Given the description of an element on the screen output the (x, y) to click on. 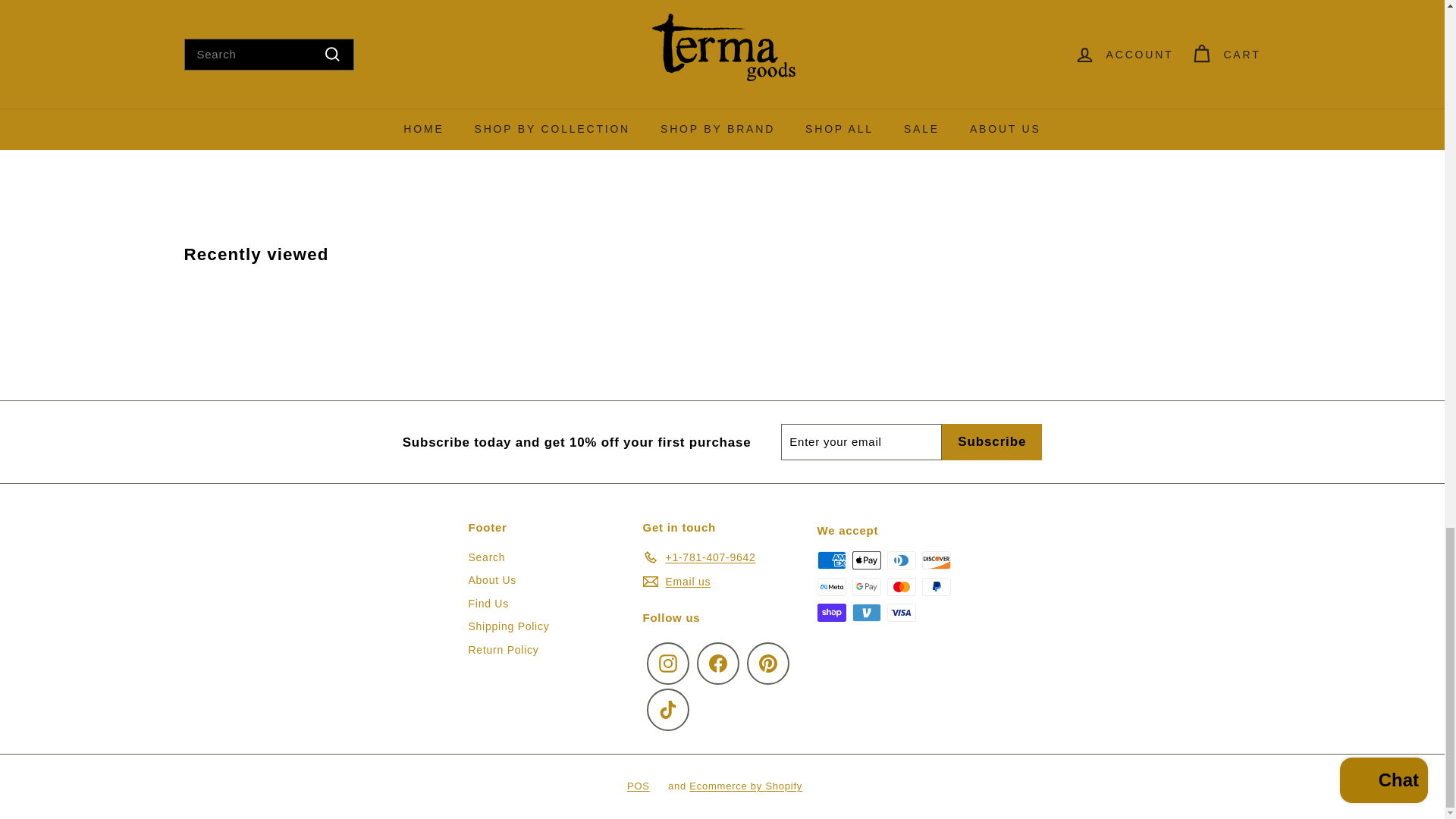
Terma Goods on TikTok (667, 709)
Terma Goods on Instagram (667, 663)
Apple Pay (865, 560)
Terma Goods on Pinterest (767, 663)
American Express (830, 560)
Terma Goods on Facebook (716, 663)
instagram (667, 663)
